Given the description of an element on the screen output the (x, y) to click on. 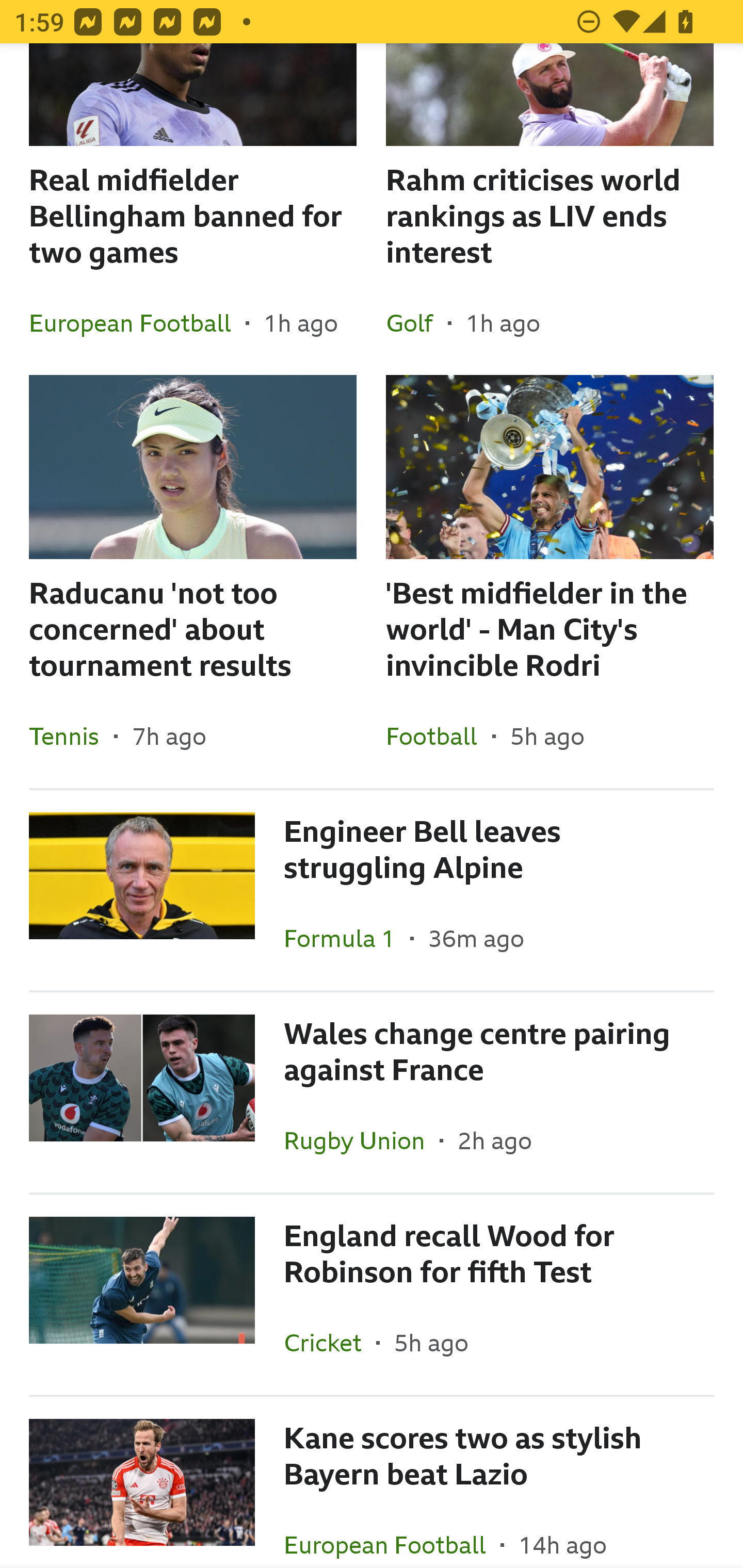
European Football In the section European Football (136, 322)
Golf In the section Golf (416, 322)
Tennis In the section Tennis (70, 735)
Football In the section Football (438, 735)
Formula 1 In the section Formula 1 (346, 937)
Rugby Union In the section Rugby Union (361, 1140)
Cricket In the section Cricket (329, 1341)
European Football In the section European Football (391, 1530)
